Given the description of an element on the screen output the (x, y) to click on. 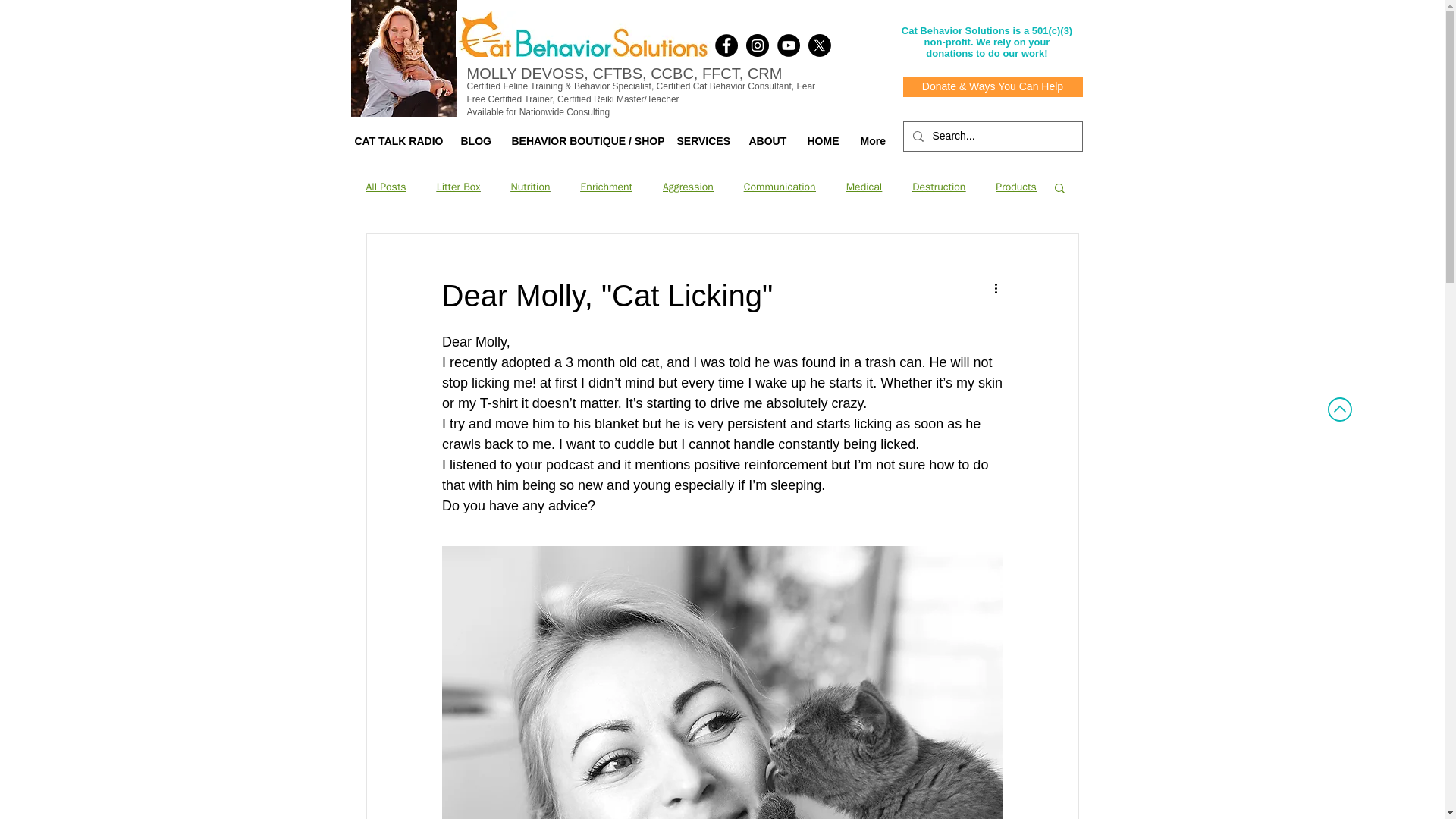
All Posts (385, 187)
HOME (822, 141)
BLOG (473, 141)
CAT TALK RADIO (395, 141)
